Given the description of an element on the screen output the (x, y) to click on. 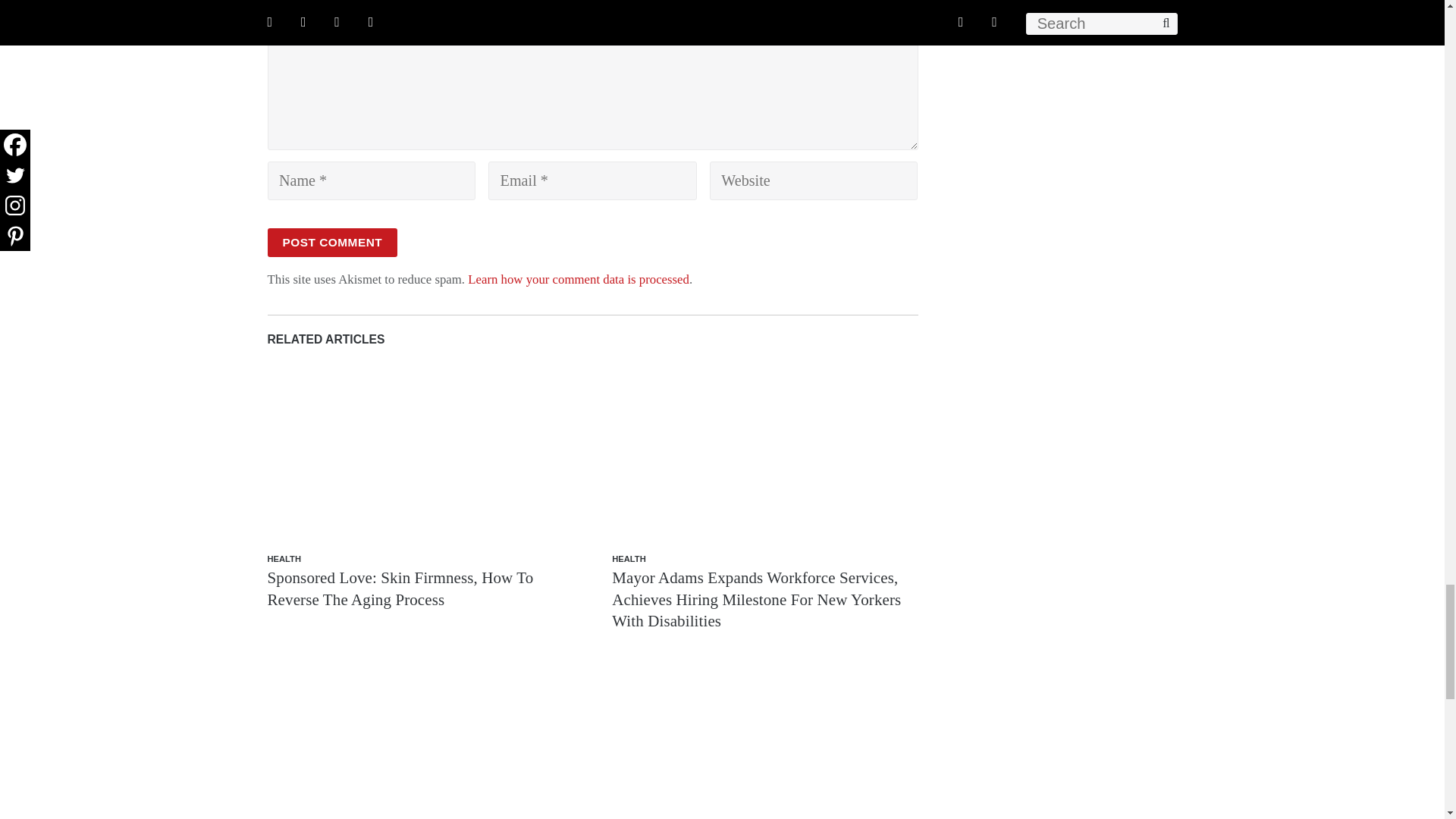
Post Comment (331, 242)
